Given the description of an element on the screen output the (x, y) to click on. 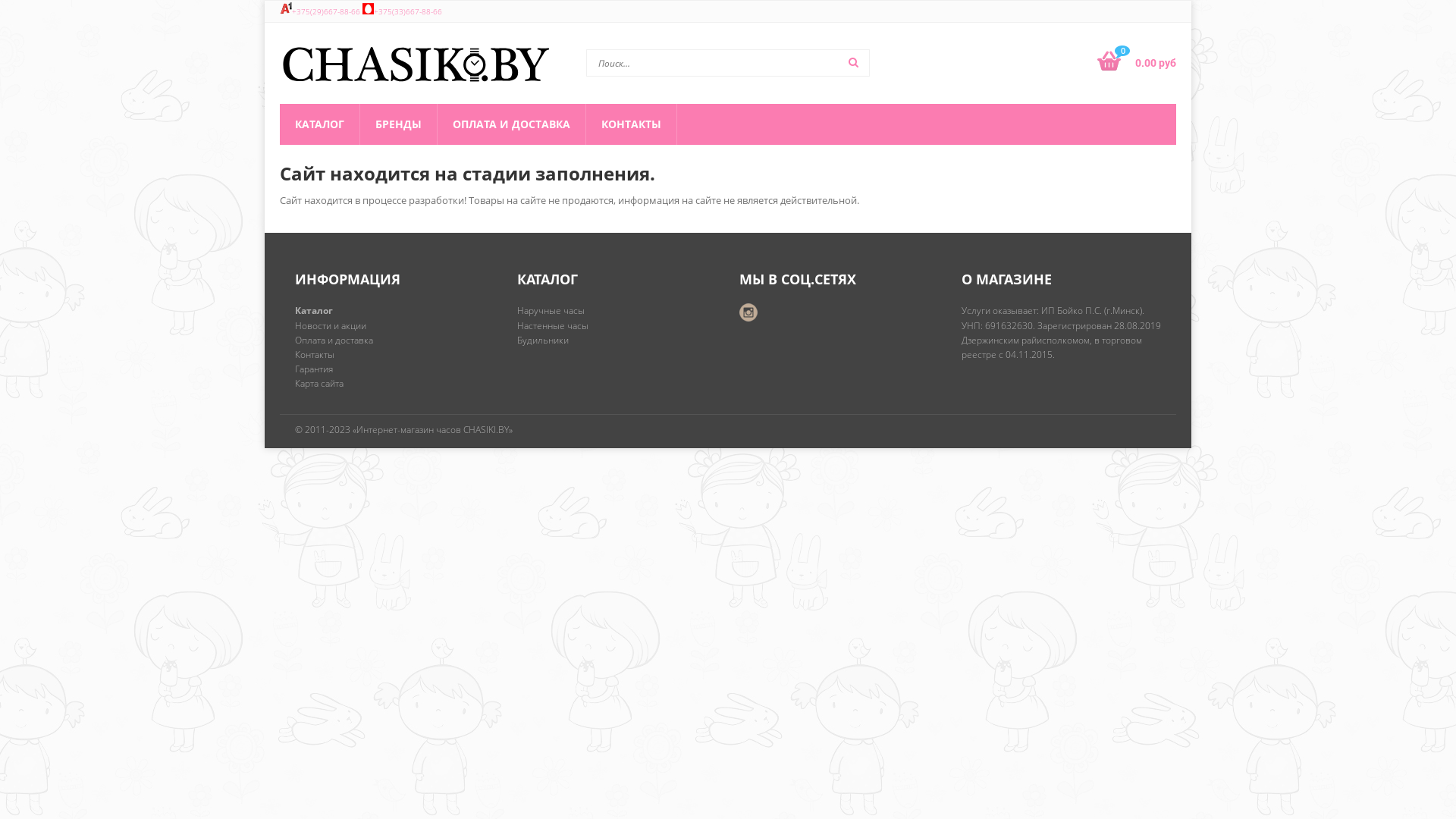
+375(29)667-88-66 Element type: text (325, 11)
+375(33)667-88-66 Element type: text (407, 11)
